Given the description of an element on the screen output the (x, y) to click on. 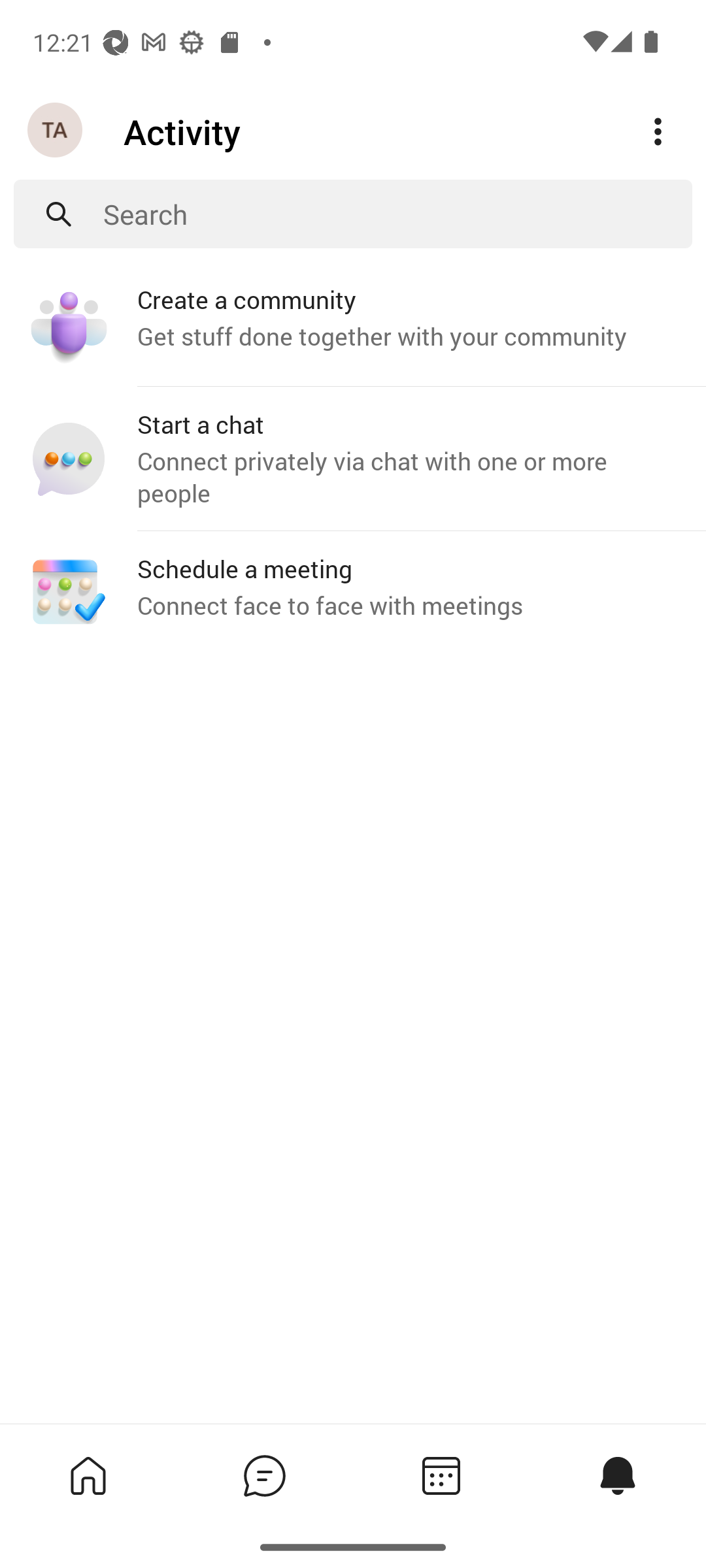
More options (657, 131)
Navigation (56, 130)
Search (397, 213)
Home tab,1 of 4, not selected (88, 1475)
Chat tab,2 of 4, not selected (264, 1475)
Calendar tab,3 of 4, not selected (441, 1475)
Activity tab,4 of 4, selected (617, 1475)
